Given the description of an element on the screen output the (x, y) to click on. 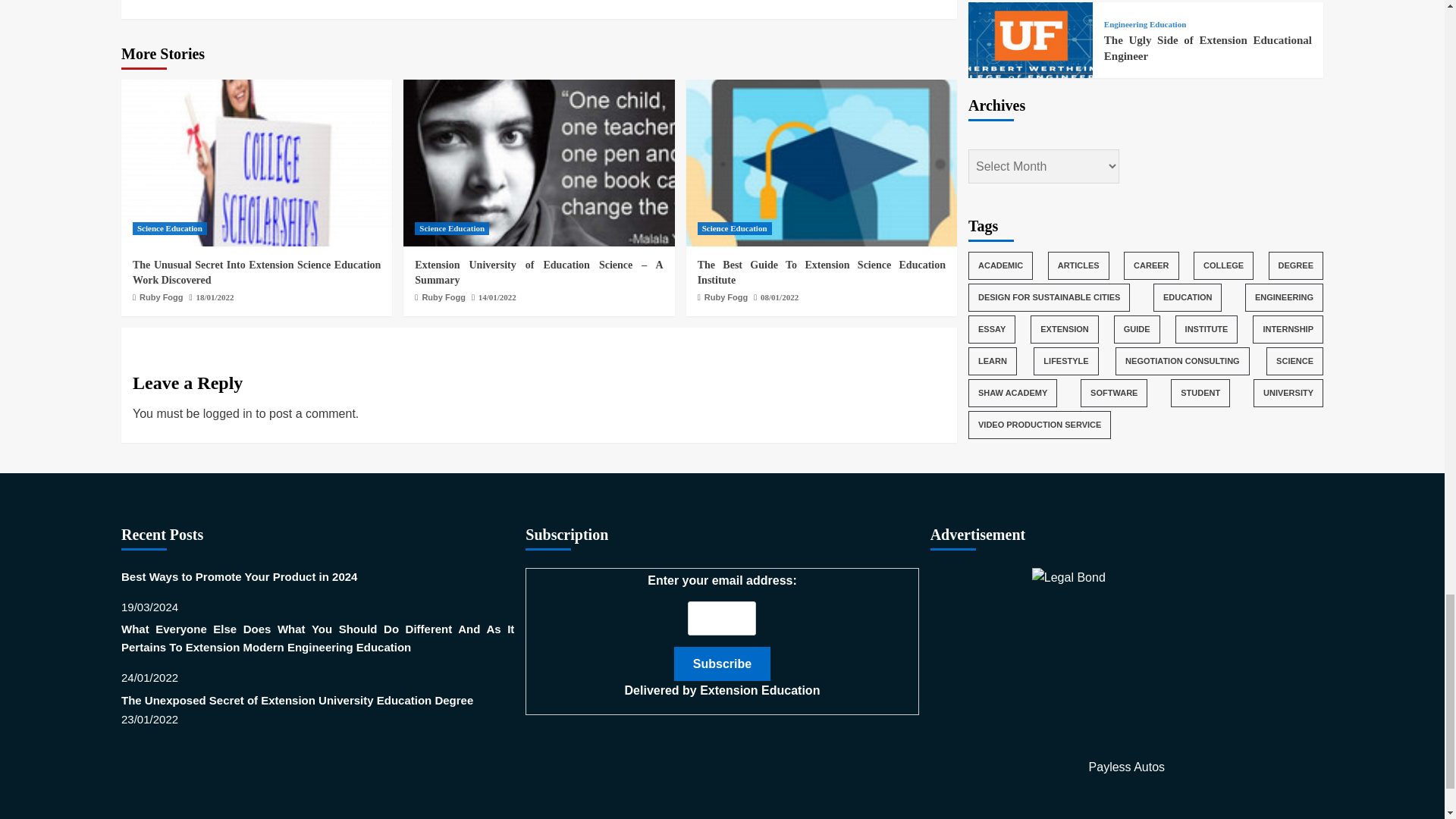
Extension University of Education Science - A Summary (538, 162)
Subscribe (722, 663)
Ruby Fogg (443, 297)
Ruby Fogg (161, 297)
The Best Guide To Extension Science Education Institute (820, 162)
Science Education (169, 228)
Science Education (451, 228)
